Given the description of an element on the screen output the (x, y) to click on. 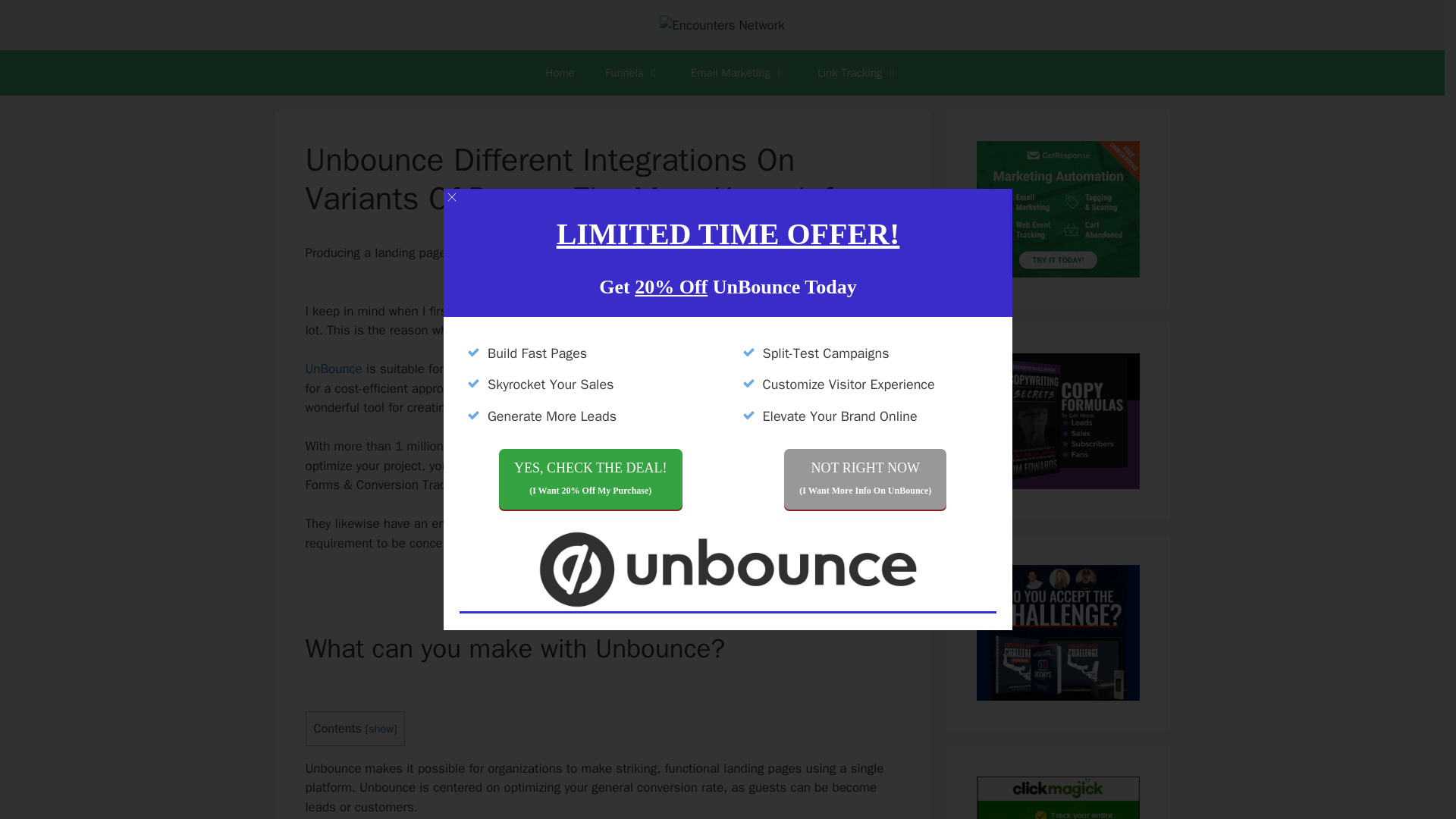
Link Tracking (858, 72)
UnBounce (332, 368)
unbounce-logo (727, 569)
Funnels (632, 72)
Home (560, 72)
Email Marketing (738, 72)
